Given the description of an element on the screen output the (x, y) to click on. 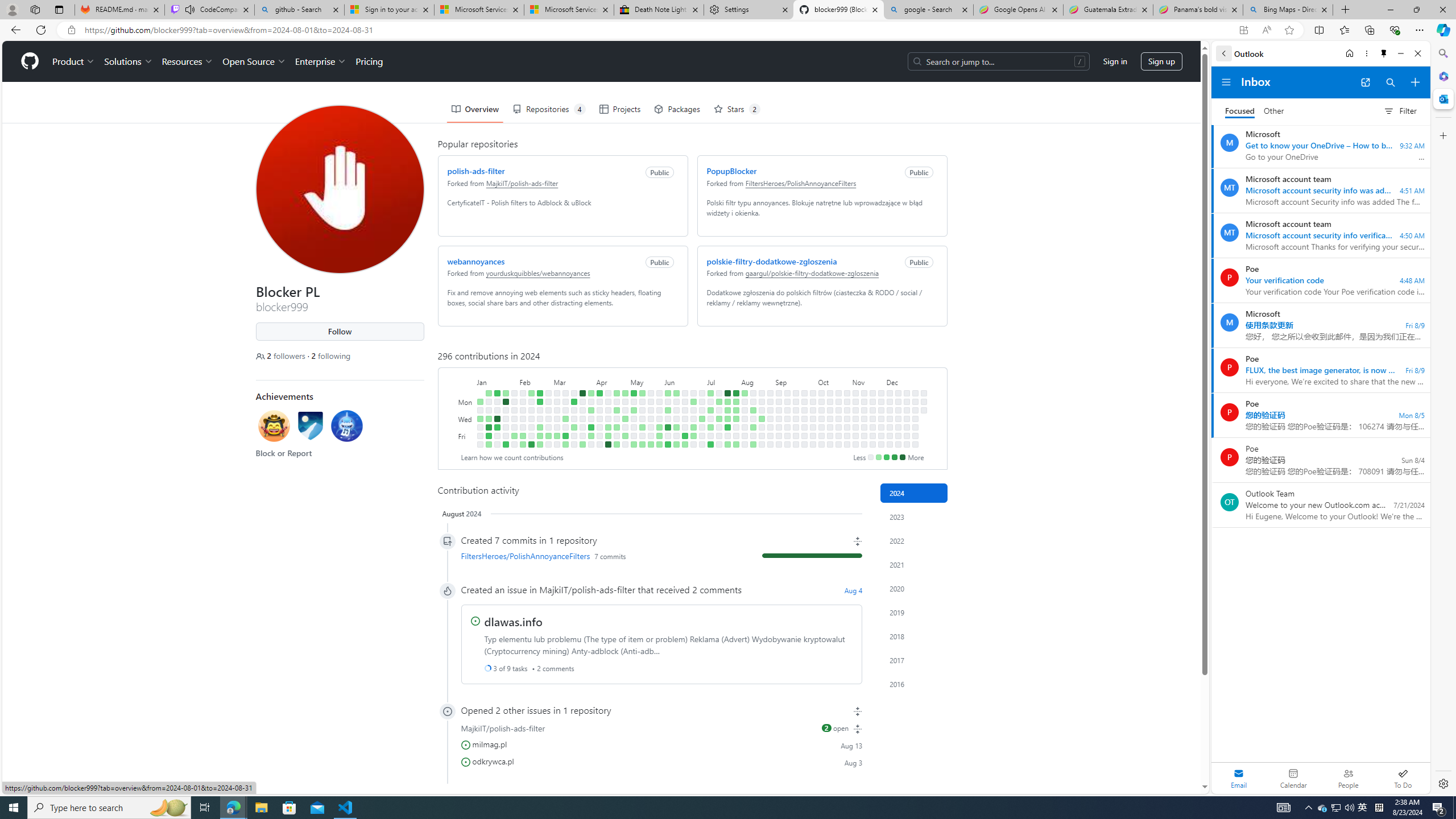
No contributions on December 5th. (889, 427)
1 contribution on March 31st. (591, 392)
6 contributions on June 21st. (684, 435)
1 contribution on May 16th. (642, 427)
No contributions on June 12th. (675, 418)
1 contribution on January 13th. (488, 444)
No contributions on February 7th. (522, 418)
No contributions on November 26th. (880, 410)
Pricing (368, 60)
Contribution activity in 2022 (913, 540)
No contributions on February 12th. (530, 401)
No contributions on September 19th. (795, 427)
6 contributions on May 5th. (633, 392)
